Given the description of an element on the screen output the (x, y) to click on. 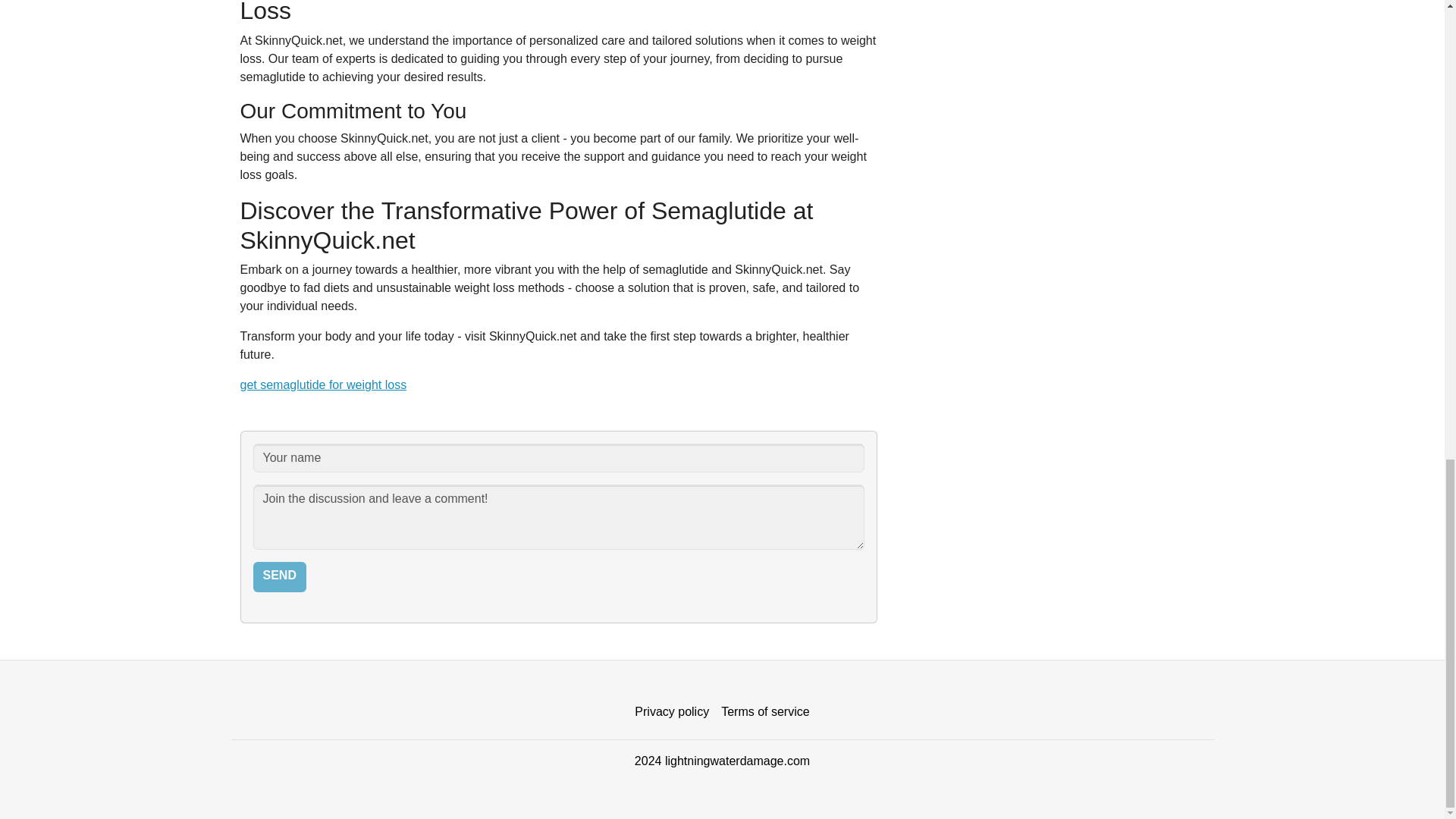
Privacy policy (671, 711)
Send (279, 576)
Send (279, 576)
Terms of service (764, 711)
get semaglutide for weight loss (323, 384)
